Given the description of an element on the screen output the (x, y) to click on. 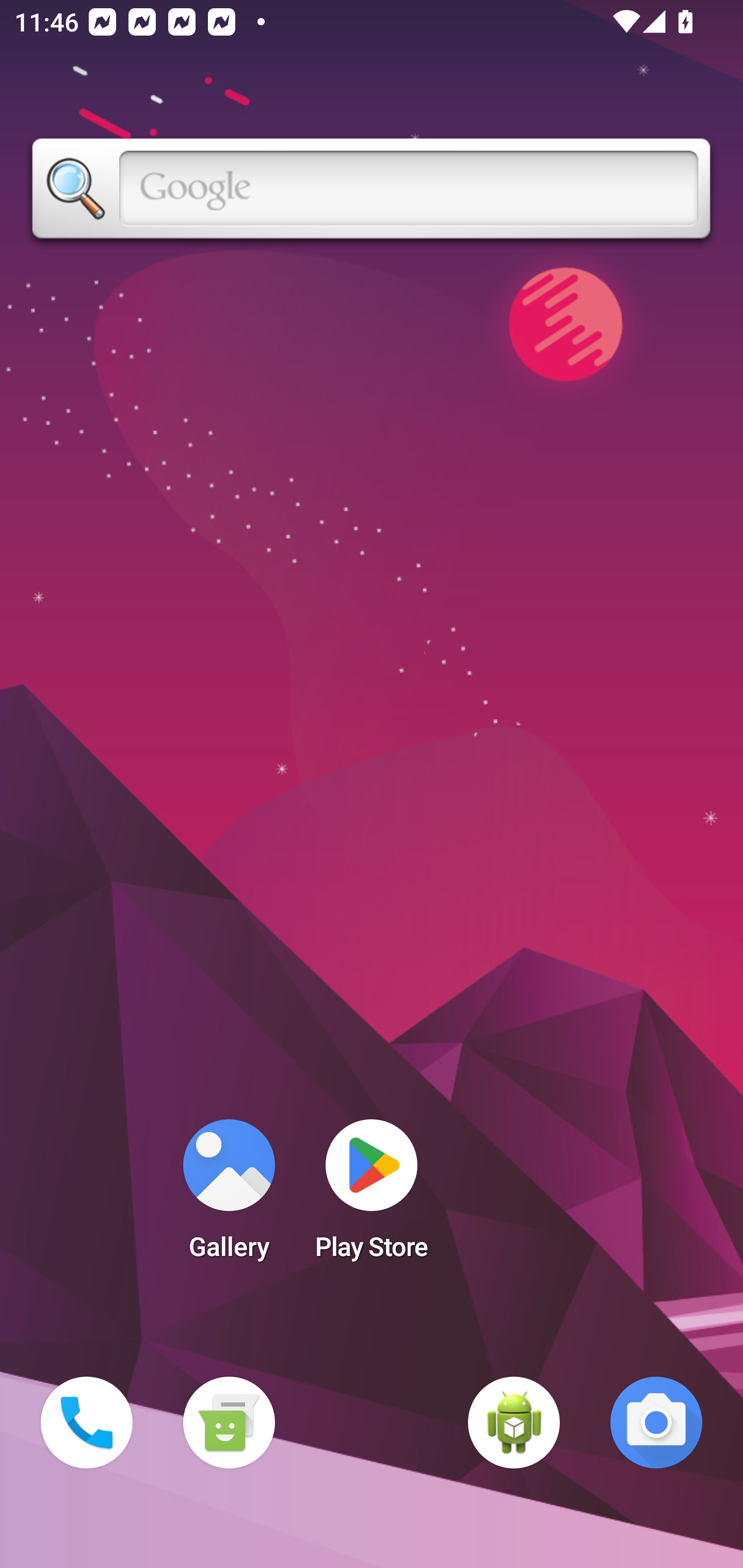
Gallery (228, 1195)
Play Store (371, 1195)
Phone (86, 1422)
Messaging (228, 1422)
WebView Browser Tester (513, 1422)
Camera (656, 1422)
